Given the description of an element on the screen output the (x, y) to click on. 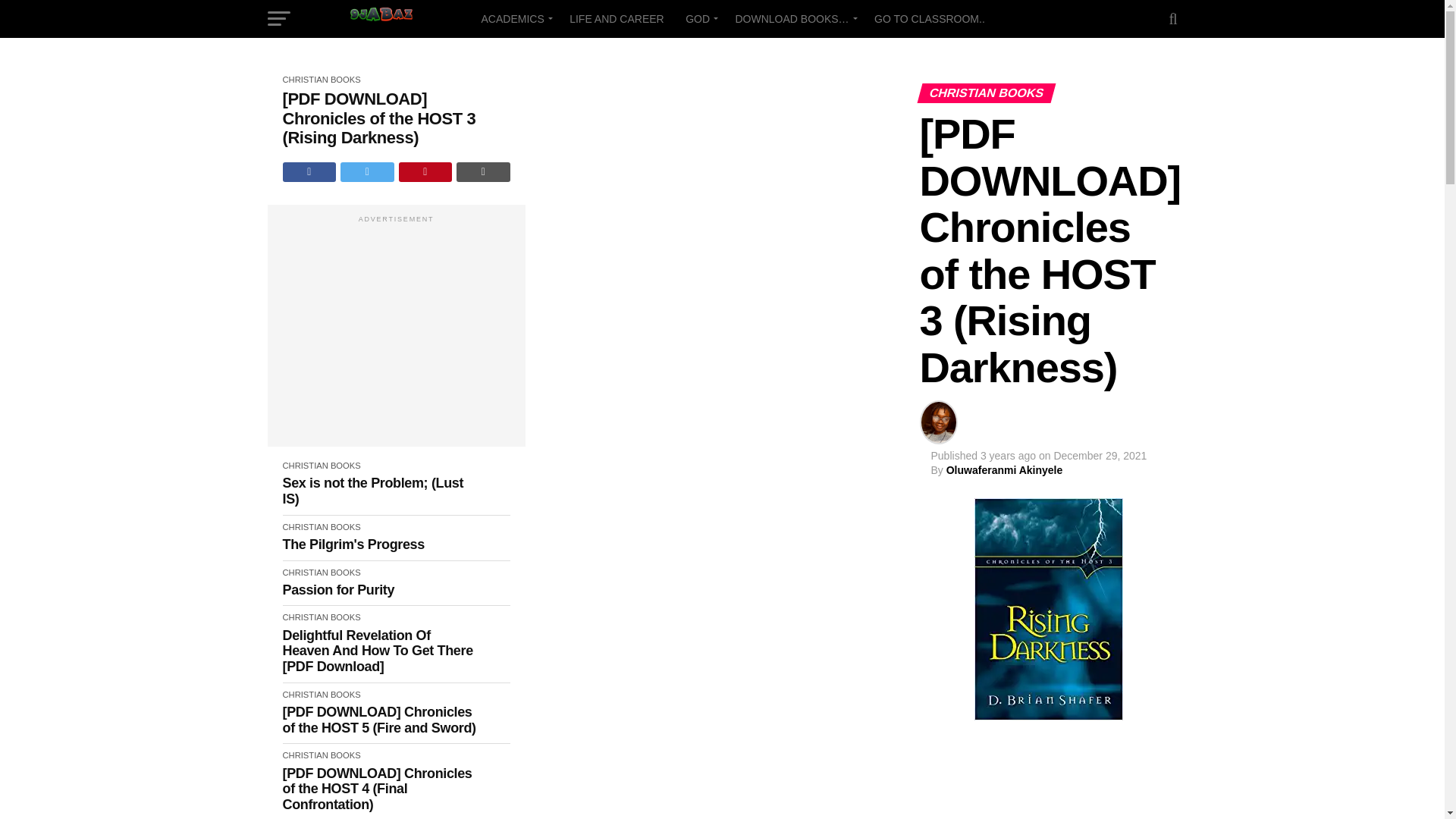
Share on Facebook (309, 171)
Pin This Post (425, 171)
Tweet This Post (367, 171)
ACADEMICS (513, 18)
